Given the description of an element on the screen output the (x, y) to click on. 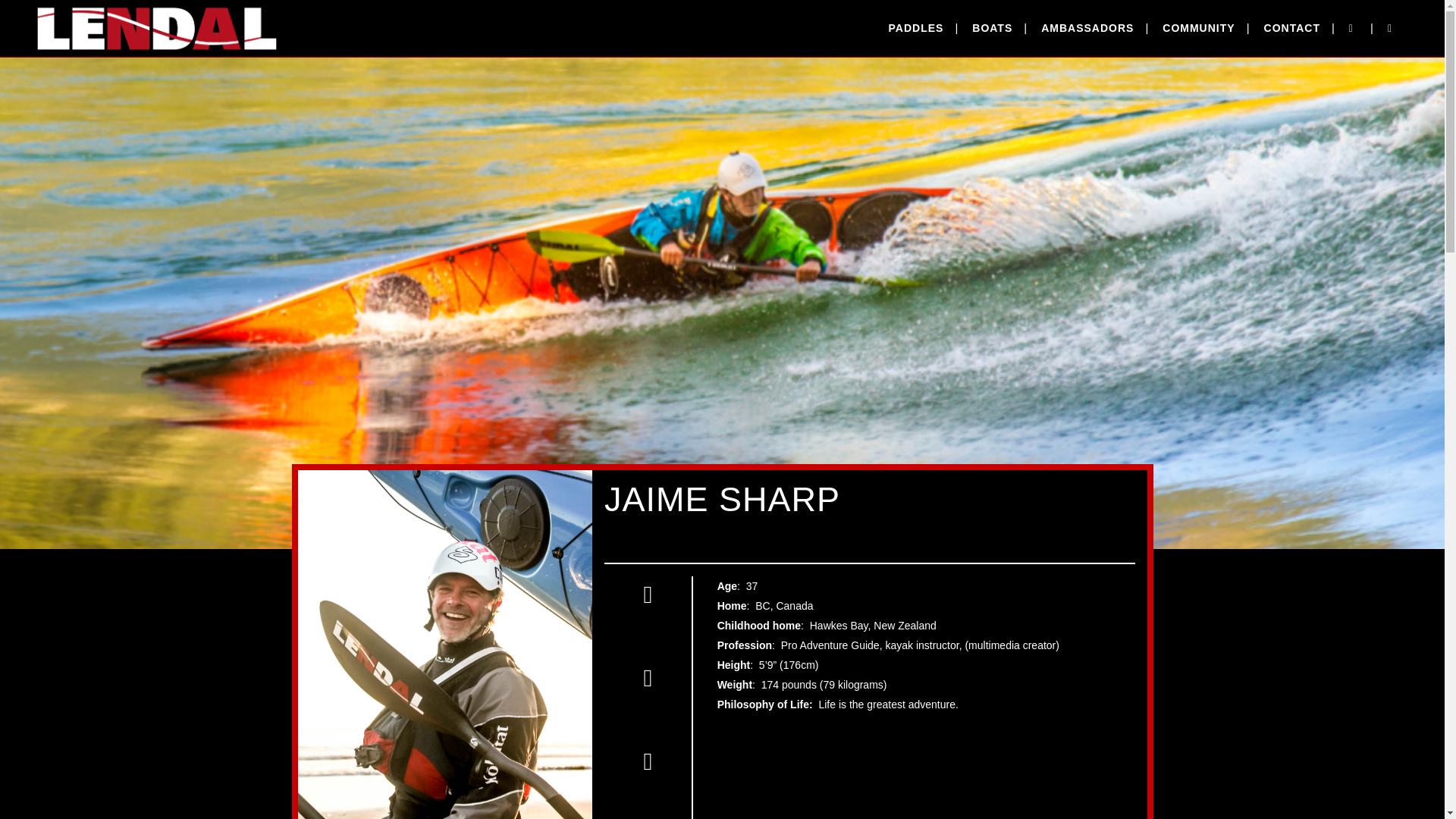
COMMUNITY (1198, 28)
CONTACT (1291, 28)
AMBASSADORS (1087, 28)
PADDLES (916, 28)
BOATS (992, 28)
